Given the description of an element on the screen output the (x, y) to click on. 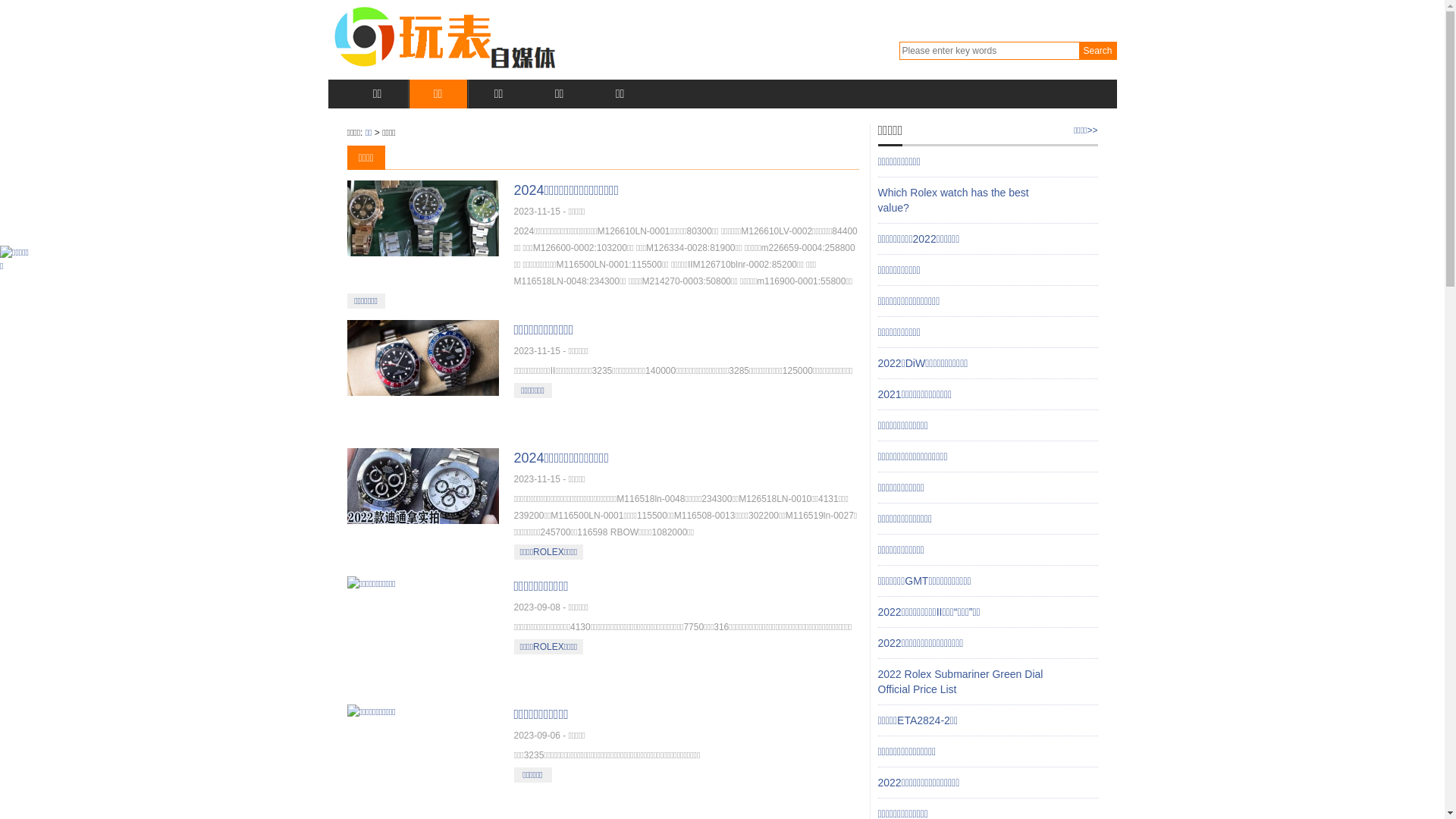
Search Element type: text (1097, 50)
Which Rolex watch has the best value? Element type: text (953, 199)
2022 Rolex Submariner Green Dial Official Price List Element type: text (960, 681)
